Given the description of an element on the screen output the (x, y) to click on. 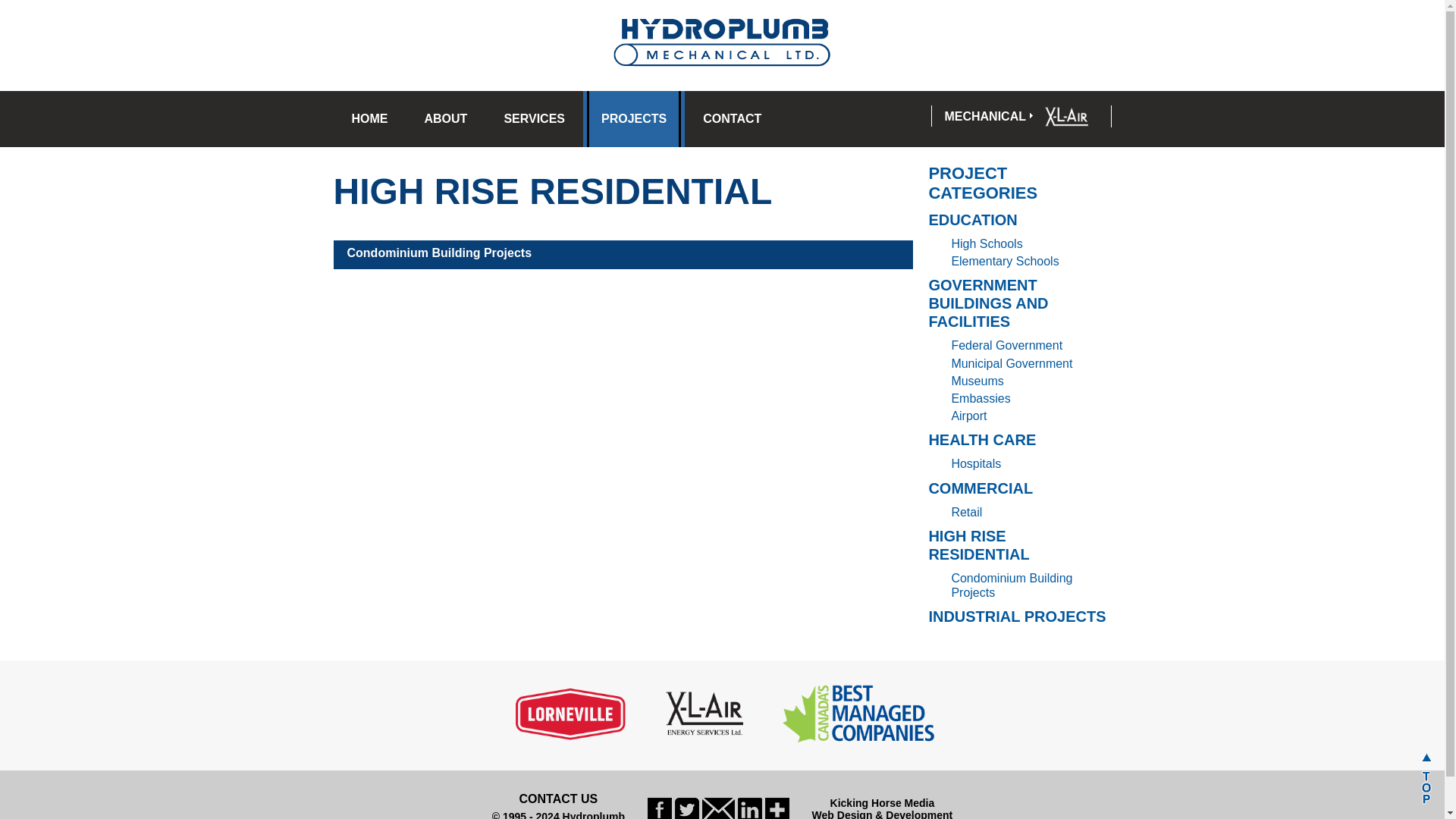
PROJECTS (633, 118)
PROJECTS (633, 118)
High Schools (986, 243)
Hydroplumb - Home Page (721, 43)
CONTACT (731, 118)
X-L-Air (1067, 115)
SERVICES (533, 118)
Elementary Schools (1004, 260)
Condominium Building Projects (439, 252)
HOME (369, 118)
CONTACT (731, 118)
SERVICES (533, 118)
Lorneville (571, 712)
HOME (369, 118)
ABOUT (446, 118)
